Given the description of an element on the screen output the (x, y) to click on. 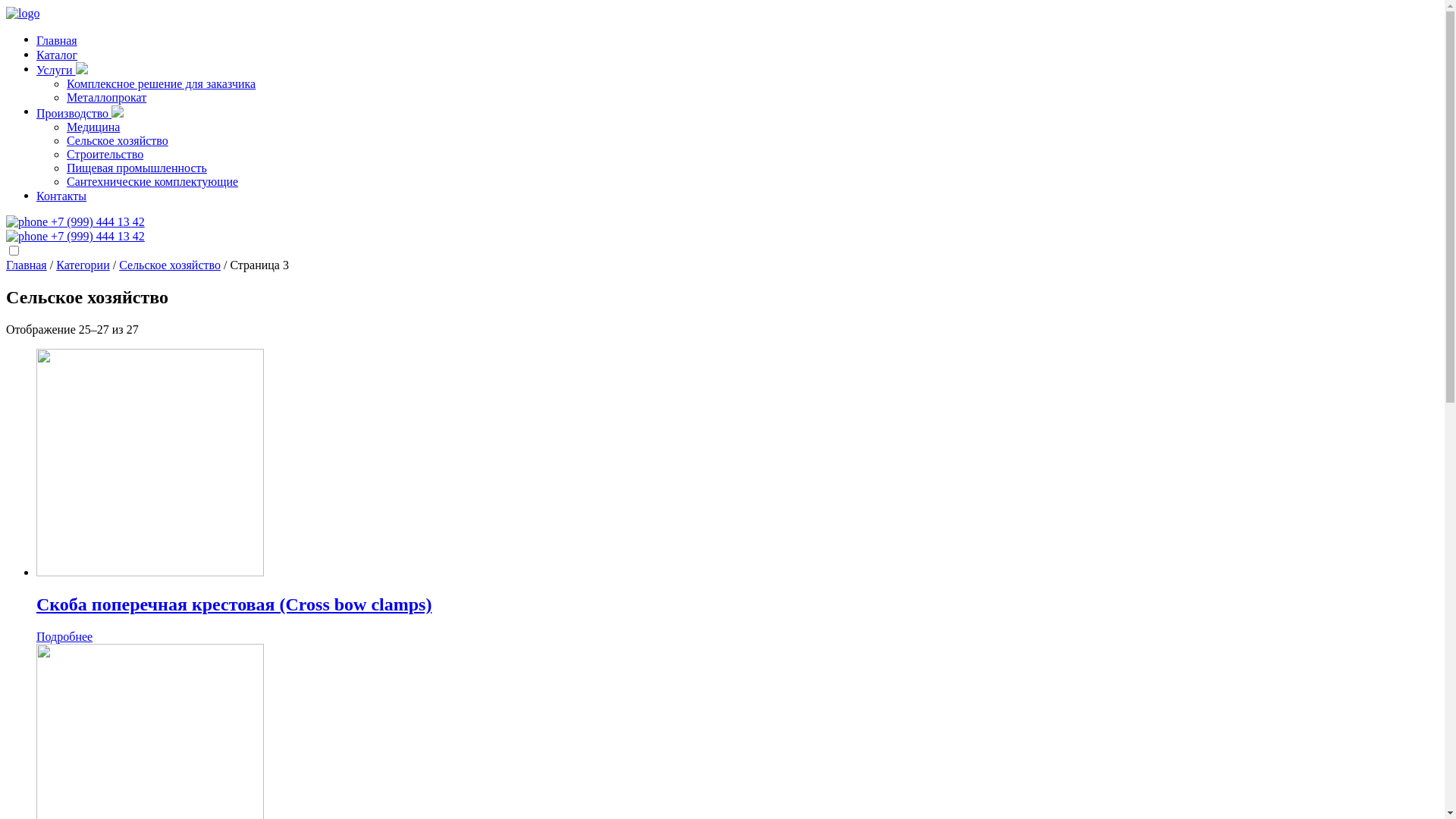
+7 (999) 444 13 42 Element type: text (79, 233)
+7 (999) 444 13 42 Element type: text (79, 236)
